Given the description of an element on the screen output the (x, y) to click on. 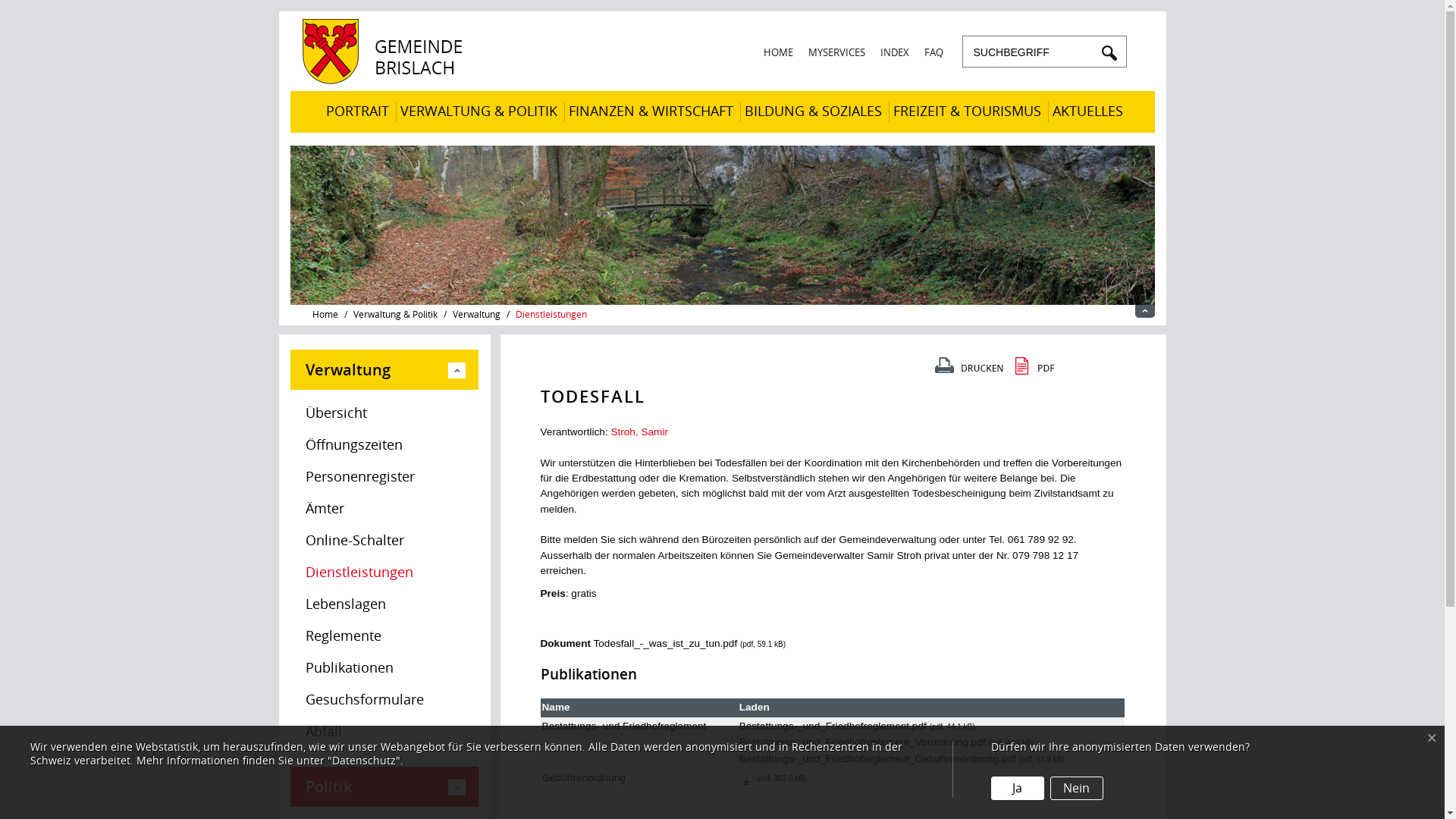
AKTUELLES Element type: text (1087, 111)
Online-Schalter Element type: text (383, 540)
Reglemente Element type: text (383, 636)
Politik Element type: text (383, 786)
FINANZEN & WIRTSCHAFT Element type: text (650, 111)
MYSERVICES Element type: text (836, 52)
FREIZEIT & TOURISMUS Element type: text (966, 111)
Bestattungs- und Friedhofreglement Element type: text (623, 725)
INDEX Element type: text (893, 52)
Verwaltung & Politik Element type: text (395, 314)
Dienstleistungen Element type: text (383, 572)
Bestattungs-_und_Friedhofreglement_Gebuhrenordnung.pdf Element type: text (877, 758)
Home Element type: text (325, 314)
Publikationen Element type: text (383, 668)
Abfall Element type: text (383, 731)
Logo Text Element type: hover (386, 80)
Todesfall_-_was_ist_zu_tun.pdf Element type: text (665, 643)
PORTRAIT Element type: text (357, 111)
BILDUNG & SOZIALES Element type: text (813, 111)
Stroh, Samir Element type: text (639, 431)
Gesuchsformulare Element type: text (383, 699)
Verwaltung Element type: text (475, 314)
VERWALTUNG & POLITIK Element type: text (478, 111)
Lebenslagen Element type: text (383, 604)
Gebuhrenordnung.pdf (362.0 kB) Element type: hover (746, 777)
Ja Element type: text (1017, 788)
FAQ Element type: text (932, 52)
Dienstleistungen Element type: text (550, 314)
HOME Element type: text (777, 52)
Suchbegriff Element type: text (1032, 52)
Verwaltung Element type: text (383, 369)
Bestattungs-_und_Friedhofreglement_Verordnung.pdf Element type: text (862, 741)
Personenregister Element type: text (383, 476)
Bestattungs-_und_Friedhofreglement.pdf Element type: text (832, 725)
Nein Element type: text (1076, 788)
